Given the description of an element on the screen output the (x, y) to click on. 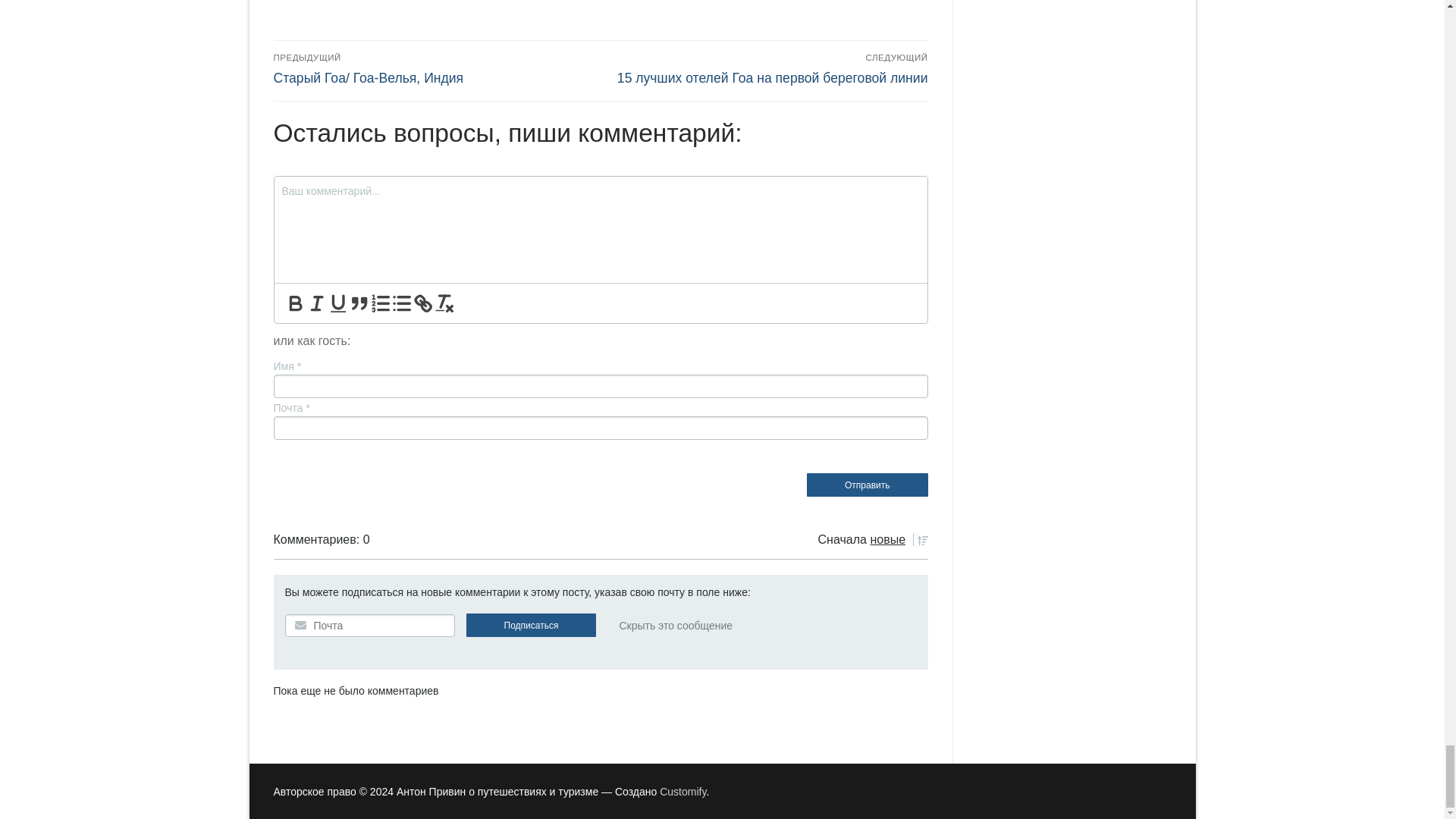
Morjim Beach Goa (600, 10)
Morjim Beach In Goa (377, 10)
